Given the description of an element on the screen output the (x, y) to click on. 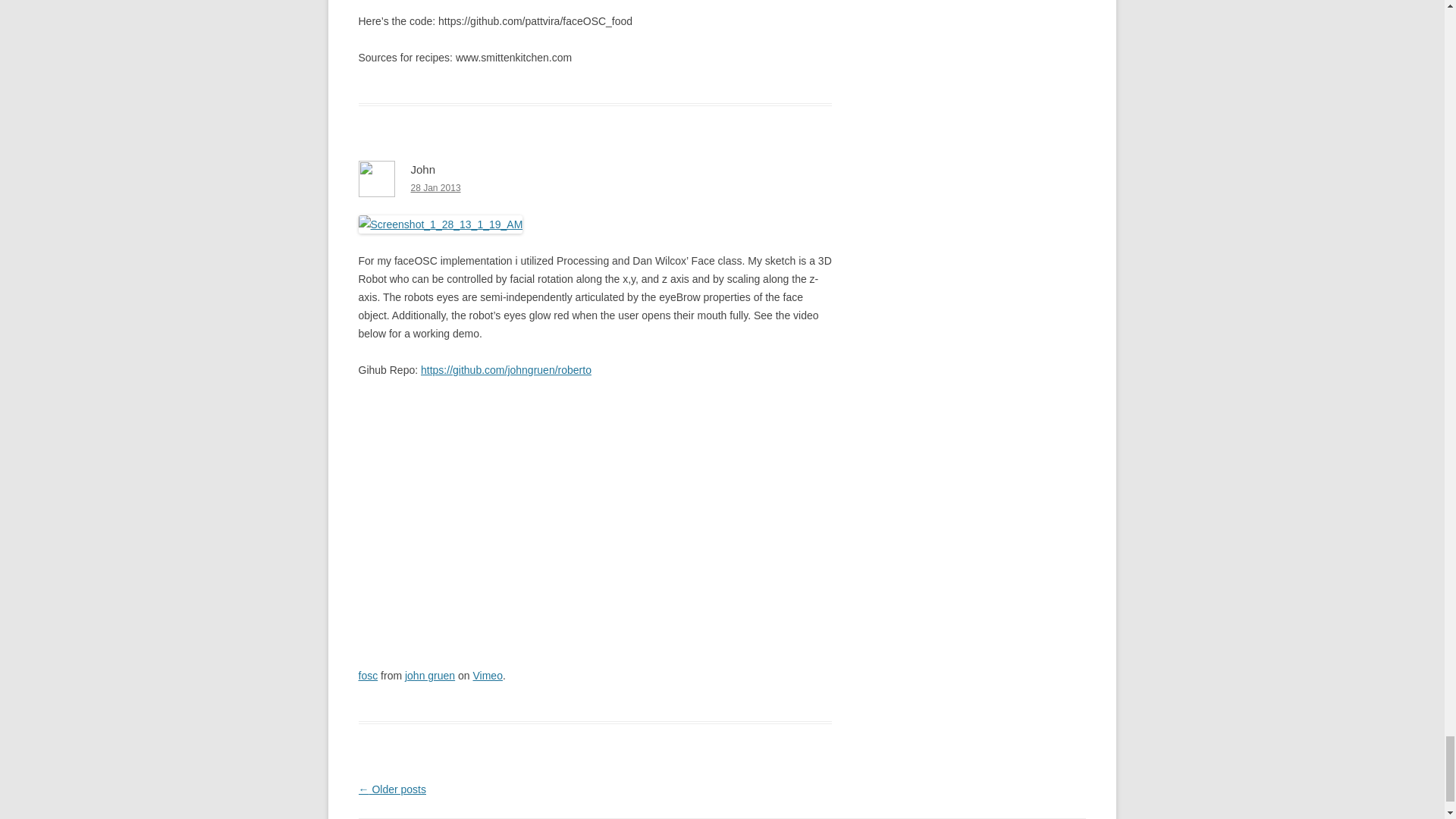
Permalink to Upkit Intensive: FaceOSC (435, 187)
